Given the description of an element on the screen output the (x, y) to click on. 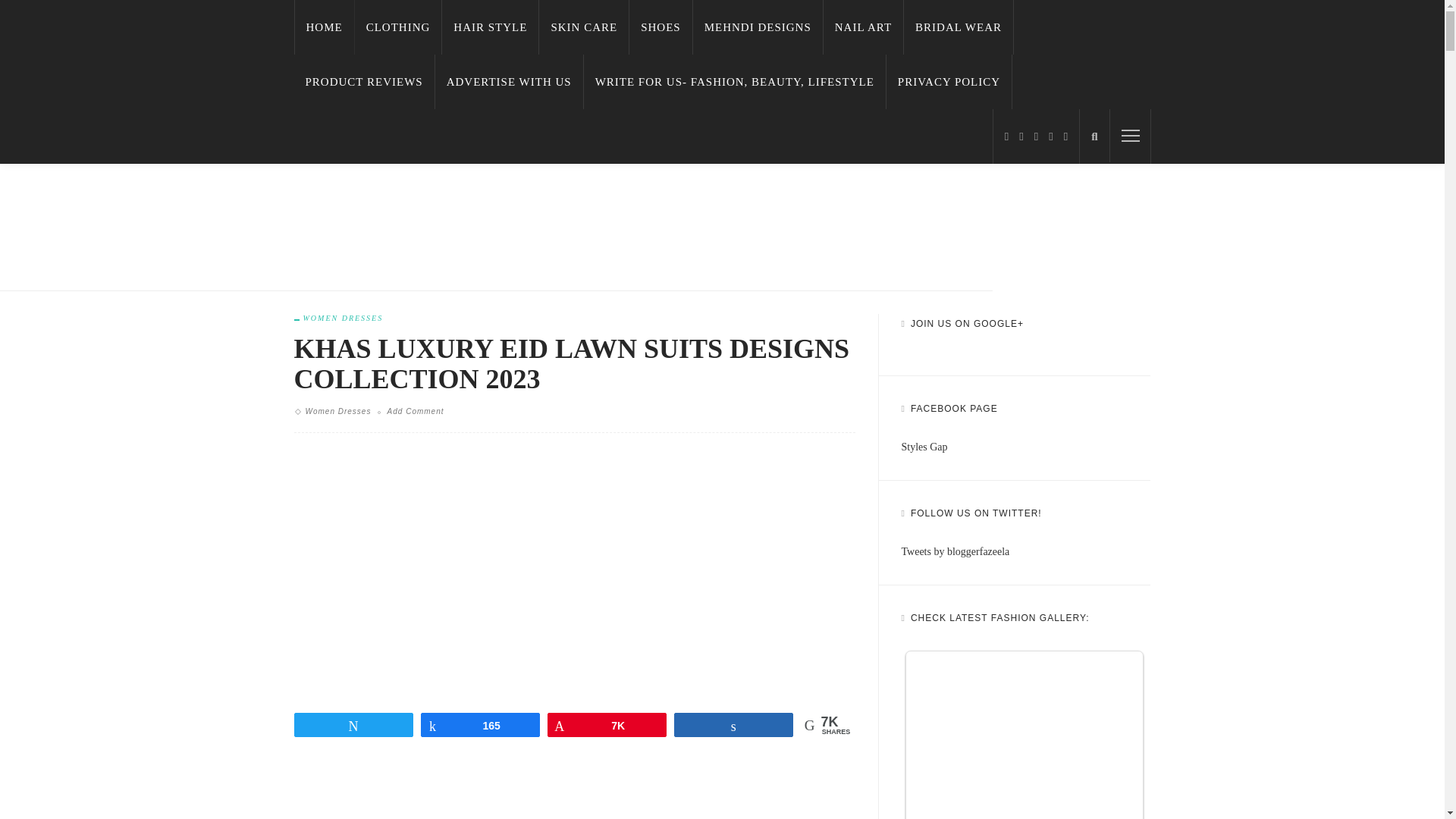
Women Dresses (339, 317)
MEHNDI DESIGNS (758, 27)
SHOES (660, 27)
Khas Luxury Eid Lawn Suits Designs Collection 2023 (575, 568)
Women Dresses (337, 411)
WRITE FOR US- FASHION, BEAUTY, LIFESTYLE (734, 81)
SKIN CARE (583, 27)
HAIR STYLE (490, 27)
PRIVACY POLICY (948, 81)
BRIDAL WEAR (958, 27)
ADVERTISE WITH US (509, 81)
HOME (324, 27)
PRODUCT REVIEWS (364, 81)
CLOTHING (398, 27)
NAIL ART (864, 27)
